Given the description of an element on the screen output the (x, y) to click on. 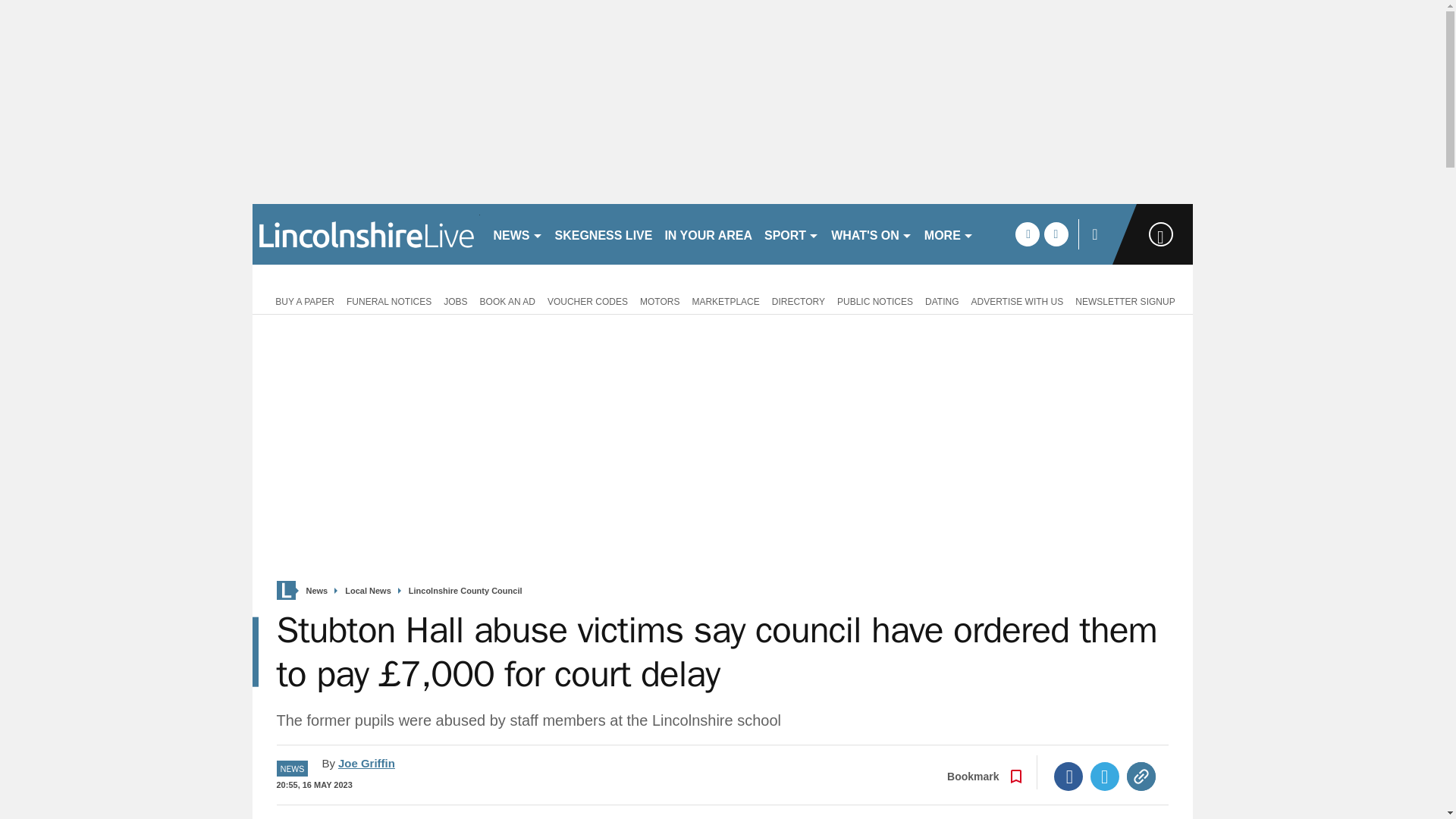
twitter (1055, 233)
MORE (948, 233)
Twitter (1104, 776)
SKEGNESS LIVE (603, 233)
BUY A PAPER (301, 300)
IN YOUR AREA (708, 233)
SPORT (791, 233)
Facebook (1068, 776)
facebook (1026, 233)
lincolnshirelive (365, 233)
WHAT'S ON (871, 233)
NEWS (517, 233)
